Given the description of an element on the screen output the (x, y) to click on. 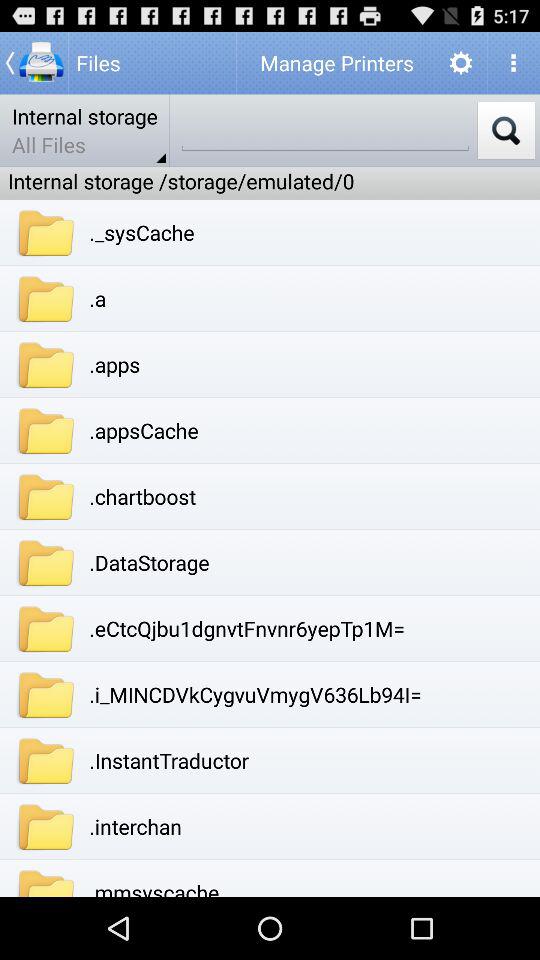
press the .i_mincdvkcygvuvmygv636lb94i= icon (255, 694)
